Given the description of an element on the screen output the (x, y) to click on. 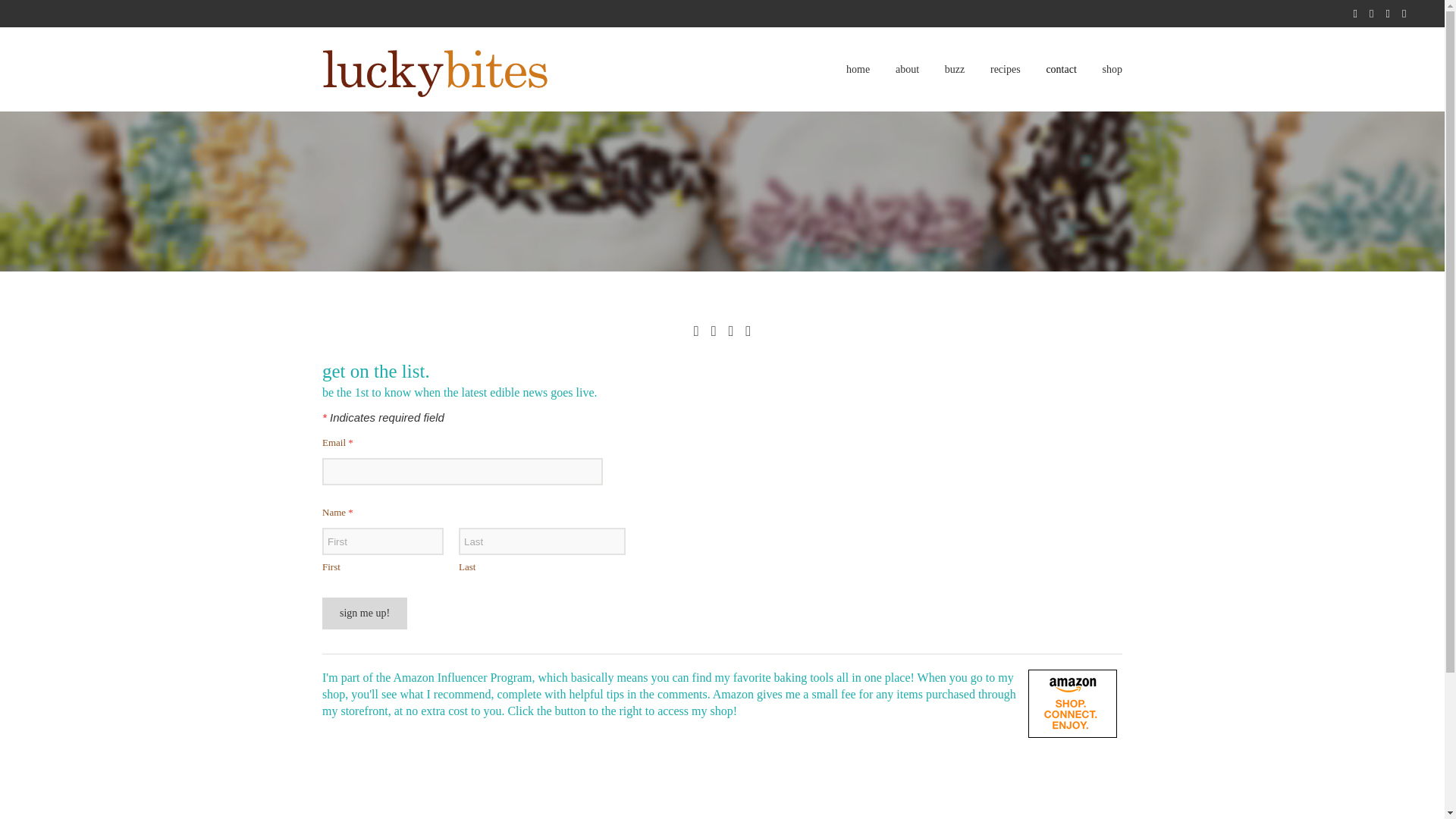
contact (1060, 69)
home (857, 69)
sign me up! (364, 613)
about (906, 69)
recipes (1005, 69)
